Given the description of an element on the screen output the (x, y) to click on. 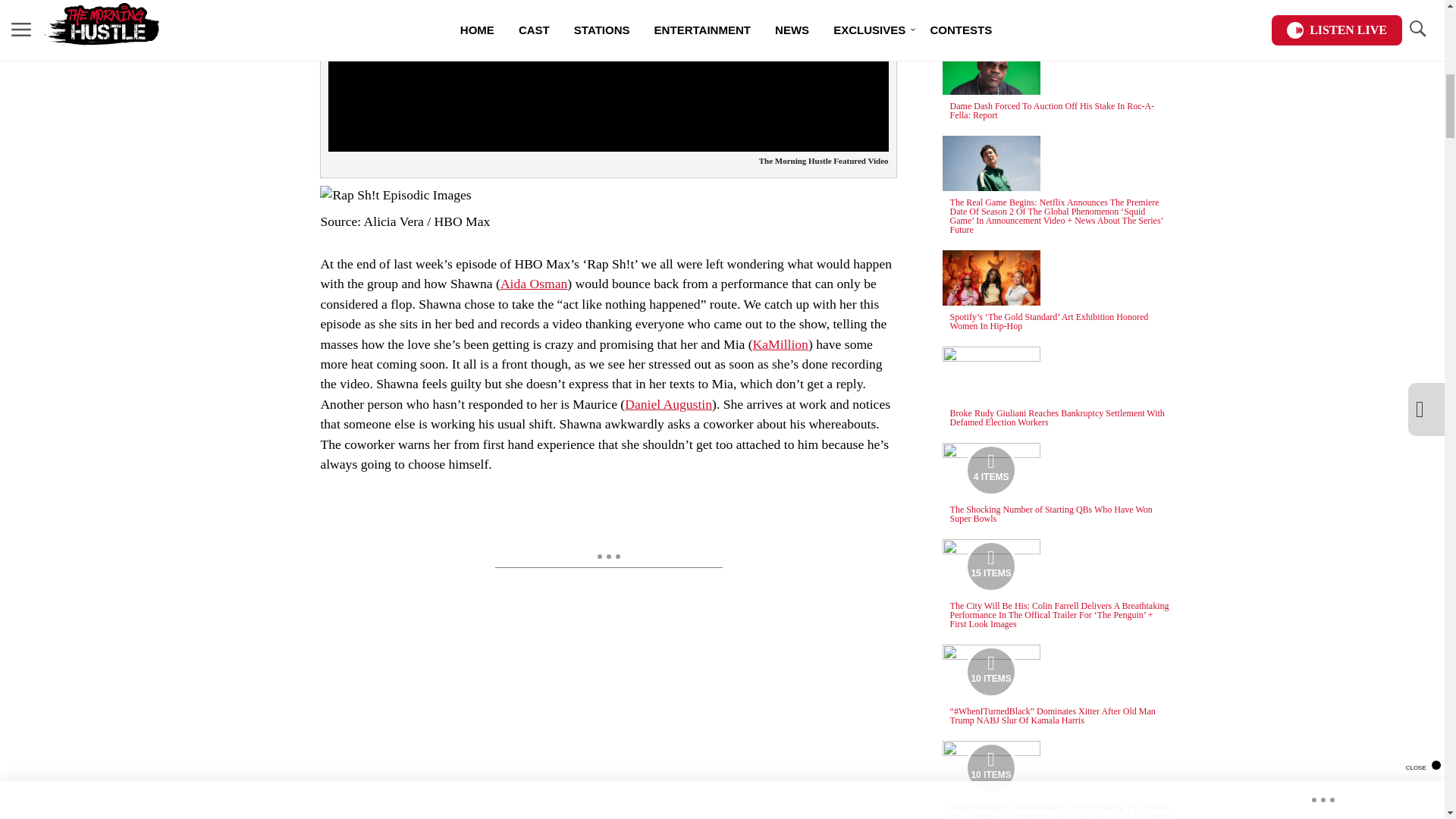
Media Playlist (990, 768)
Media Playlist (990, 671)
Daniel Augustin (667, 403)
Aida Osman (533, 283)
KaMillion (780, 344)
Media Playlist (990, 469)
Media Playlist (990, 565)
